Given the description of an element on the screen output the (x, y) to click on. 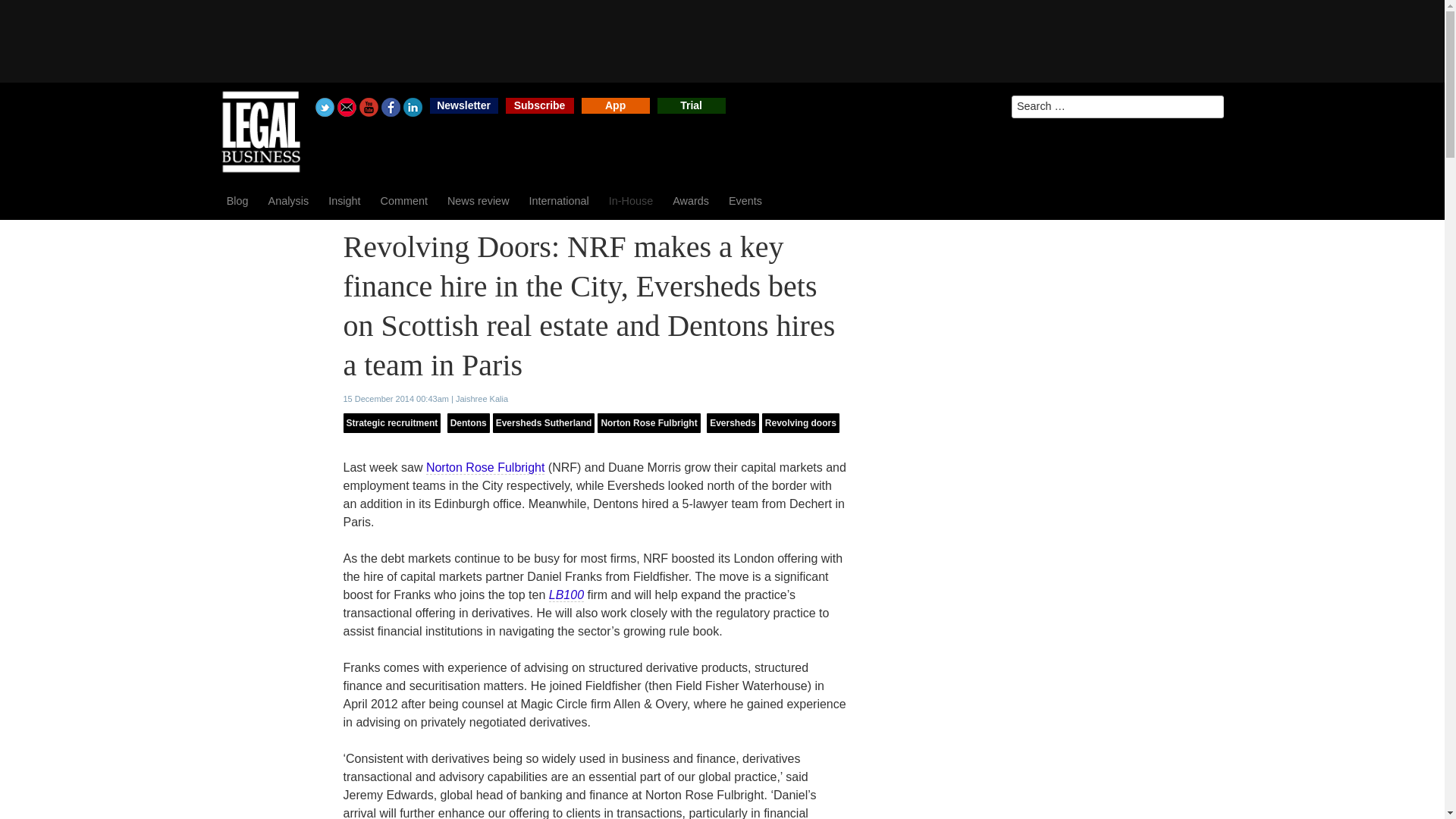
Legal Business on Twitter (324, 107)
The Legal 500 Youtube Channel (368, 107)
Legal Business Android and iOS App for mobile and tablets (614, 105)
Newsletter (463, 105)
Legal Business Facebook Page (390, 107)
Sign-up to the Legal Business Newsletter (463, 105)
Blog (237, 200)
Trial (691, 105)
Subscribe to Legal Business Magazine (539, 105)
3rd party ad content (721, 41)
The Legal 500 LinkedIn Company Page (412, 107)
Posts by Jaishree Kalia (481, 398)
Email Legal Business (346, 107)
